Given the description of an element on the screen output the (x, y) to click on. 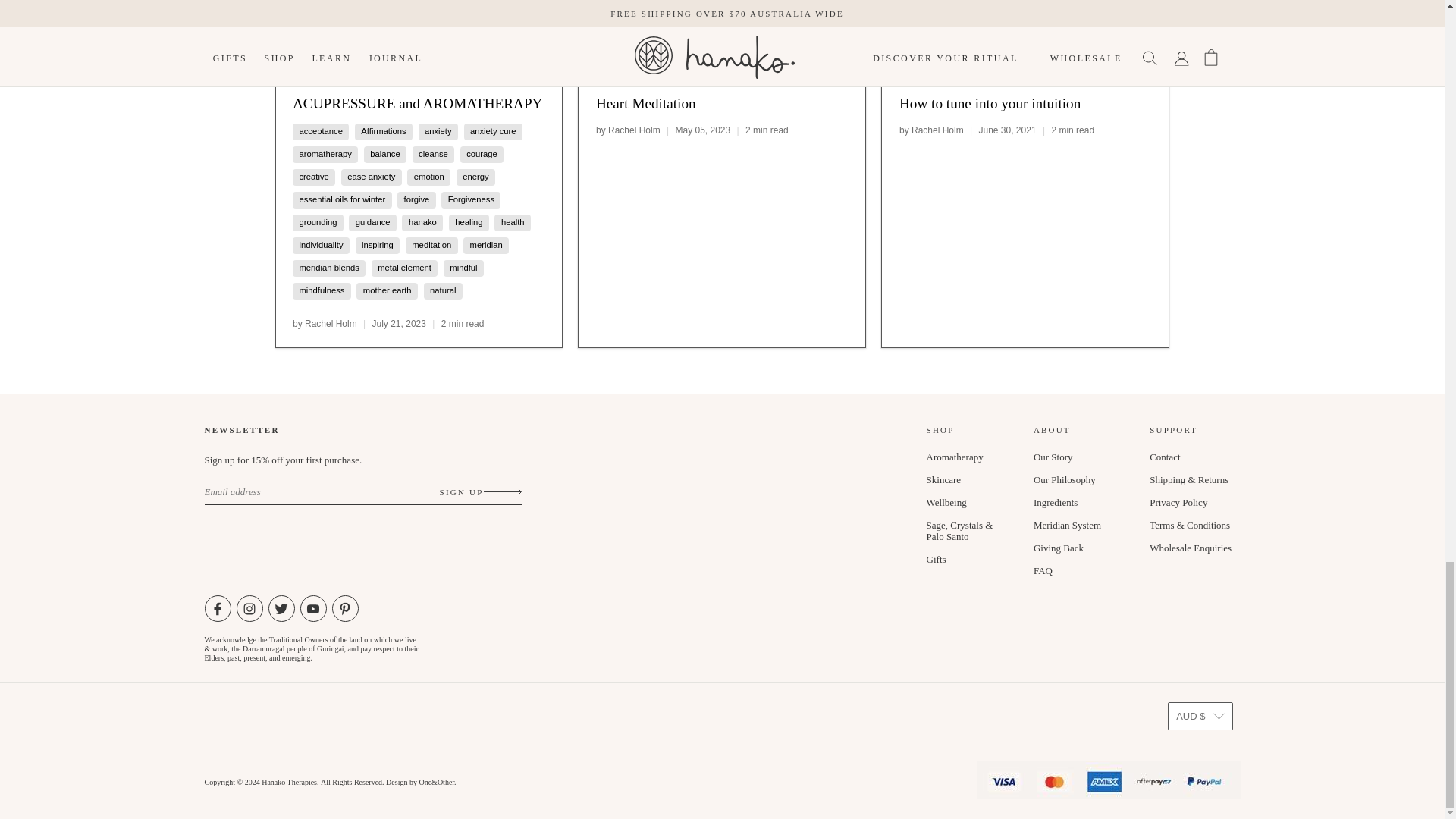
Journal tagged courage (481, 154)
Journal tagged balance (383, 154)
ACUPRESSURE and AROMATHERAPY (416, 103)
Journal tagged acceptance (320, 131)
Journal tagged cleanse (433, 154)
Journal tagged Affirmations (383, 131)
Journal tagged aromatherapy (324, 154)
ACUPRESSURE and AROMATHERAPY (419, 39)
Journal tagged anxiety (438, 131)
Journal tagged creative (313, 176)
